Given the description of an element on the screen output the (x, y) to click on. 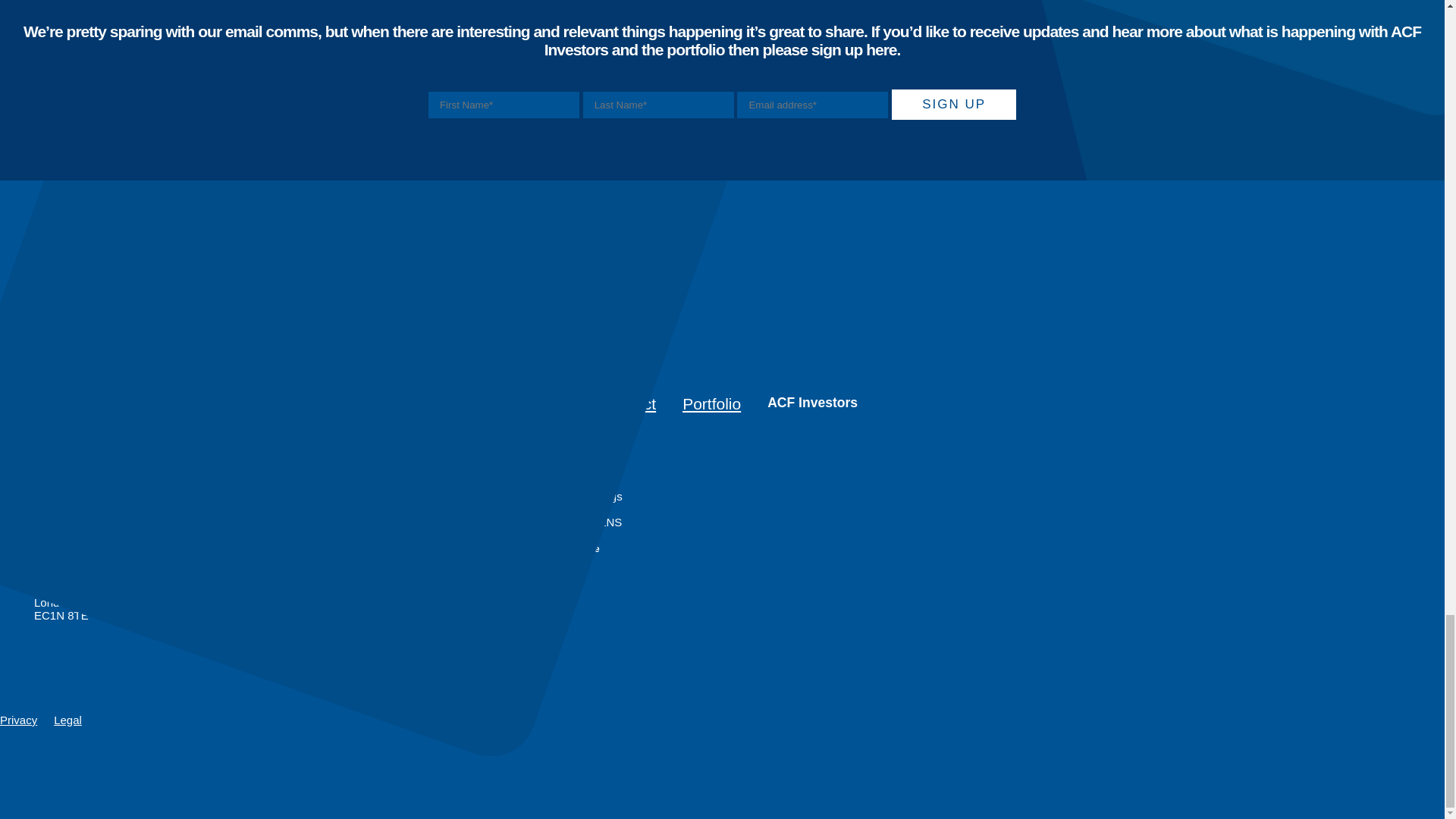
Overview (93, 423)
Testimonials (84, 464)
Investment Committee and Board (84, 444)
Sign up (953, 104)
About (21, 403)
Sign up (953, 104)
